Given the description of an element on the screen output the (x, y) to click on. 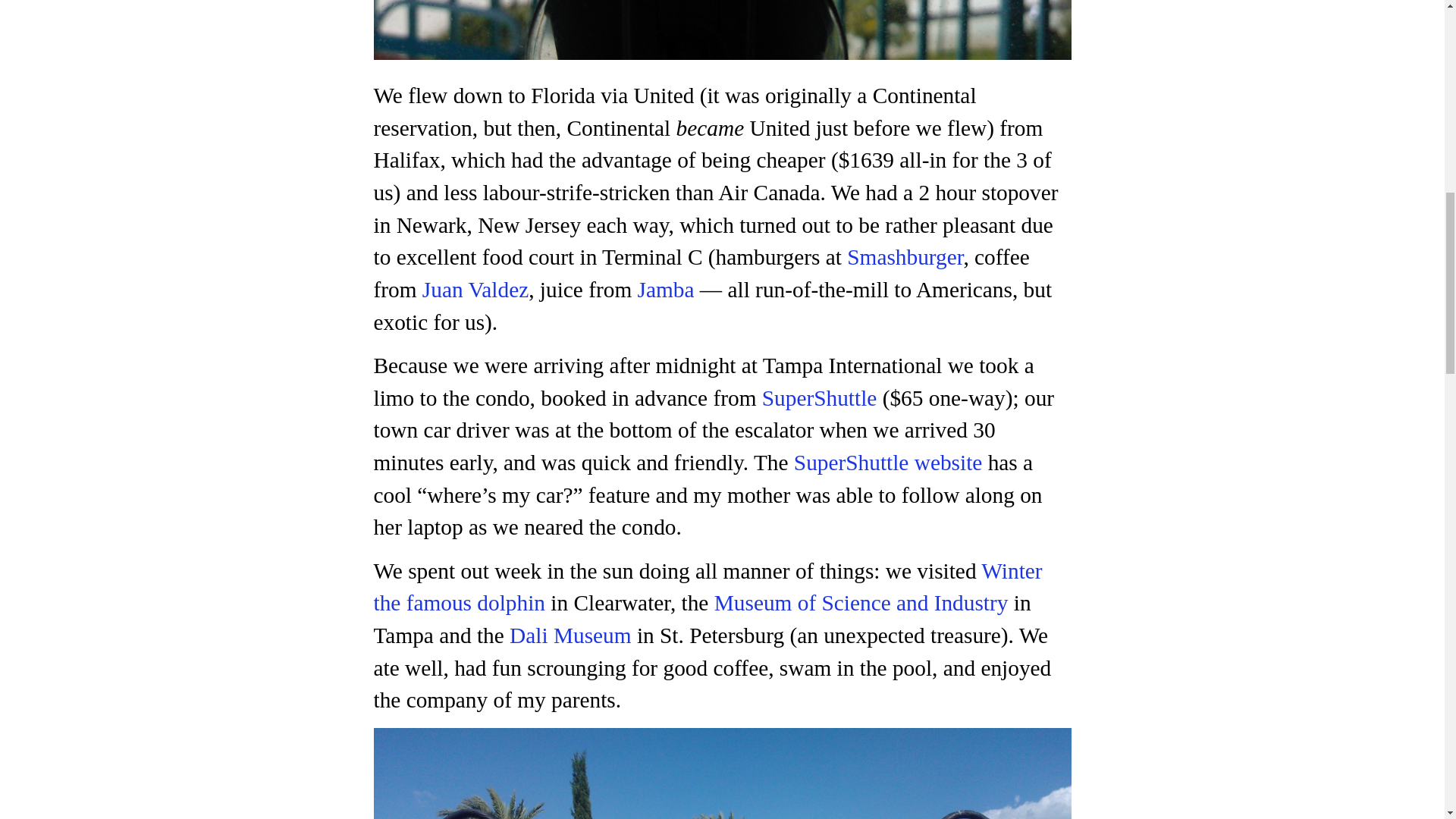
Dali Museum (569, 635)
SuperShuttle website (887, 462)
Juan Valdez (475, 289)
Winter the famous dolphin (707, 586)
Jamba (665, 289)
Smashburger (904, 256)
Museum of Science and Industry (861, 602)
SuperShuttle (819, 397)
